Given the description of an element on the screen output the (x, y) to click on. 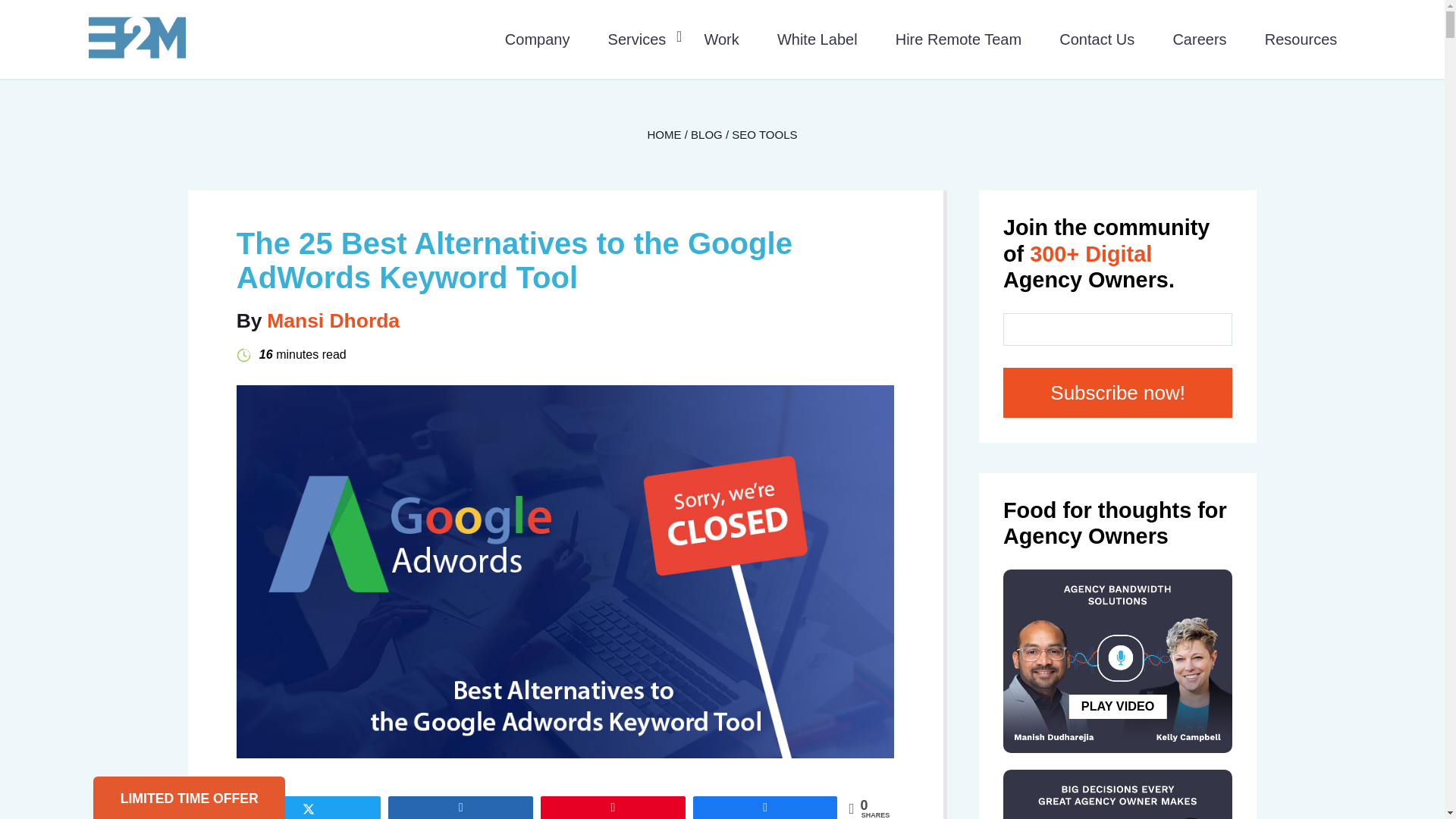
Resources (1301, 38)
White Label (817, 38)
Hire Remote Team (958, 38)
Company (537, 38)
Careers (1198, 38)
Work (720, 38)
Subscribe now! (1117, 392)
Services (637, 38)
Contact Us (1097, 38)
